Given the description of an element on the screen output the (x, y) to click on. 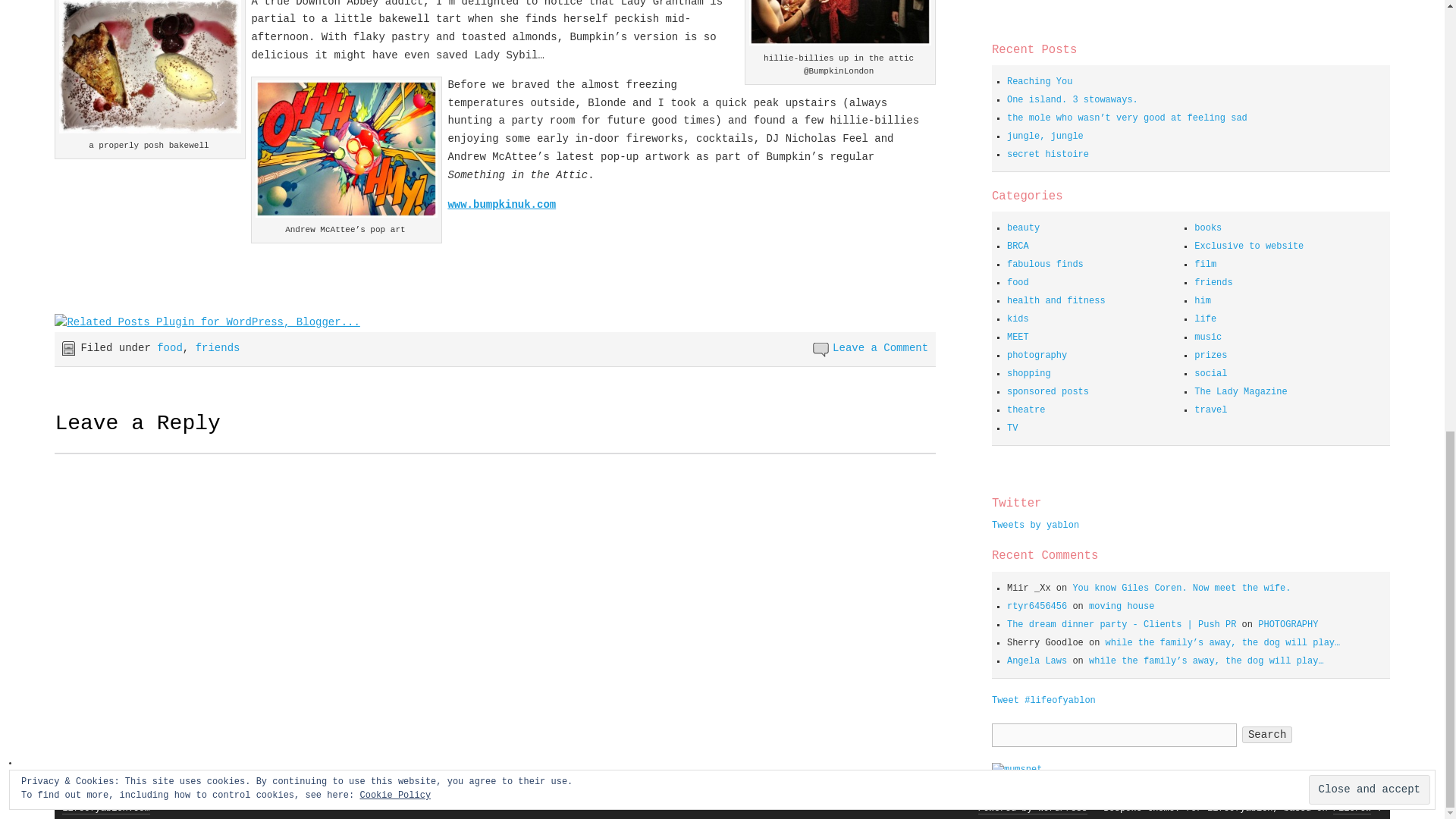
friends (217, 347)
One island. 3 stowaways. (1072, 100)
Search (1266, 734)
www.bumpkinuk.com (501, 204)
www.bumpkinuk.com (501, 204)
food (170, 347)
Reaching You (1039, 81)
lifeofyablon.com (105, 808)
Leave a Comment (880, 347)
